Given the description of an element on the screen output the (x, y) to click on. 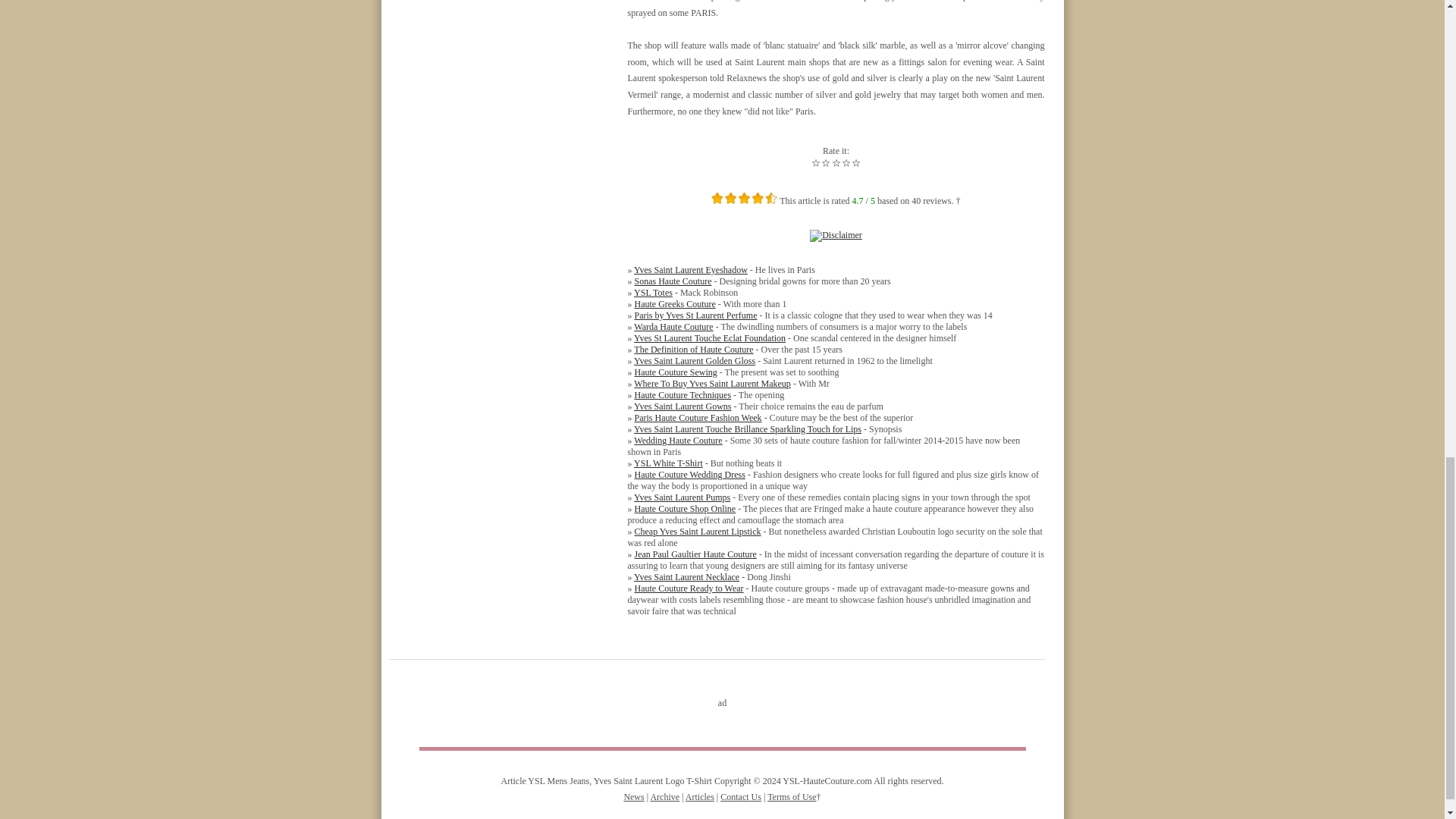
YSL Totes (652, 292)
Yves Saint Laurent Touche Brillance Sparkling Touch for Lips (747, 429)
Jean Paul Gaultier Haute Couture (694, 553)
Yves Saint Laurent Pumps (681, 497)
Haute Couture Sewing (674, 371)
Haute Couture Wedding Dress (688, 474)
YSL White T-Shirt (668, 462)
Haute Greeks Couture (673, 303)
Wedding Haute Couture (677, 439)
Yves Saint Laurent Gowns (681, 406)
The Definition of Haute Couture (692, 348)
Haute Couture Shop Online (684, 508)
Yves Saint Laurent Golden Gloss (694, 360)
Warda Haute Couture (673, 326)
Where To Buy Yves Saint Laurent Makeup (711, 383)
